Given the description of an element on the screen output the (x, y) to click on. 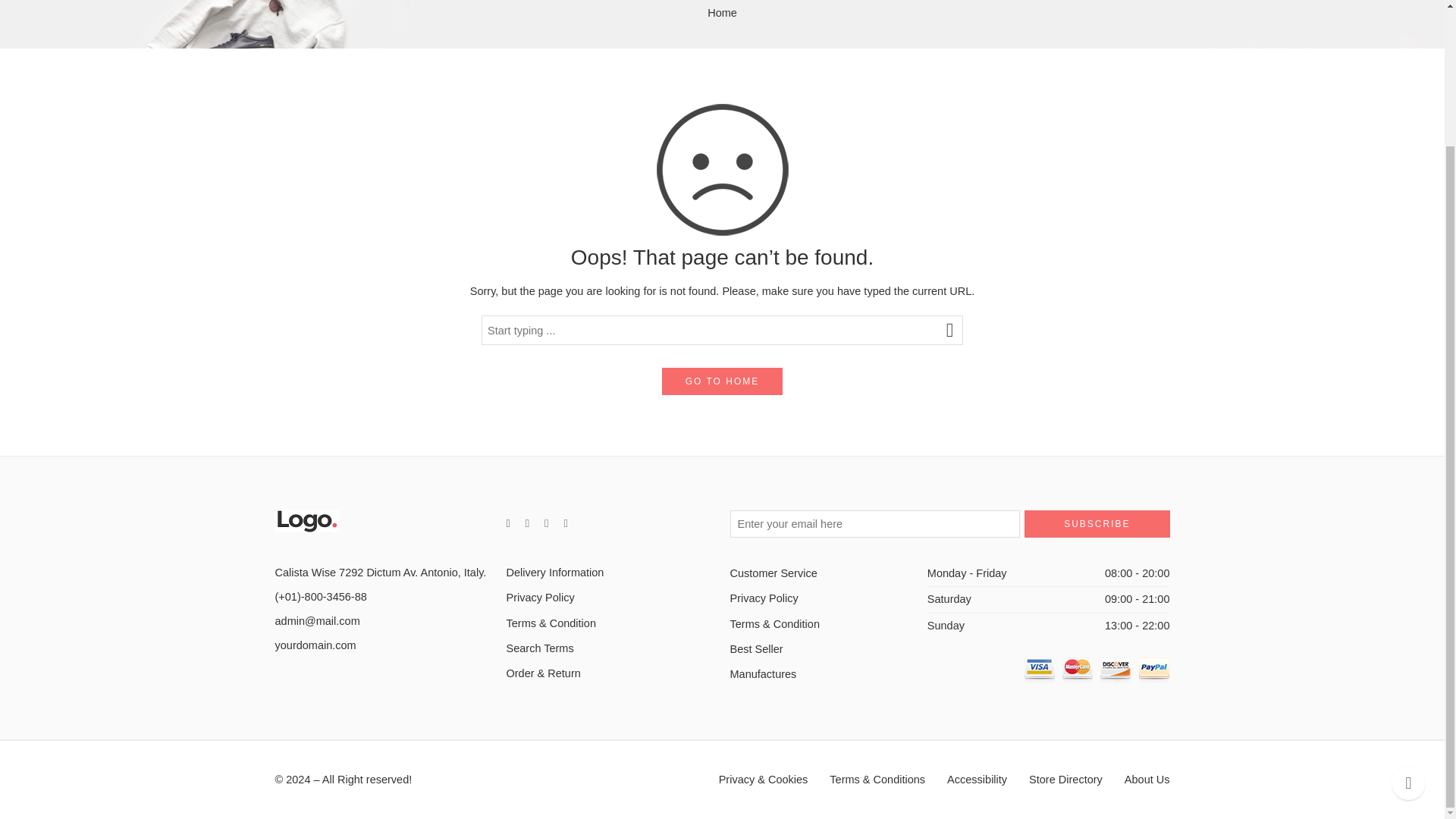
Email (317, 621)
SUBSCRIBE (1097, 523)
Manufactures (827, 674)
Home (721, 12)
yourdomain.com (315, 645)
Privacy Policy (827, 598)
Store Directory (1065, 779)
Customer Service (827, 573)
Best Seller (827, 649)
Delivery Information (610, 572)
